Given the description of an element on the screen output the (x, y) to click on. 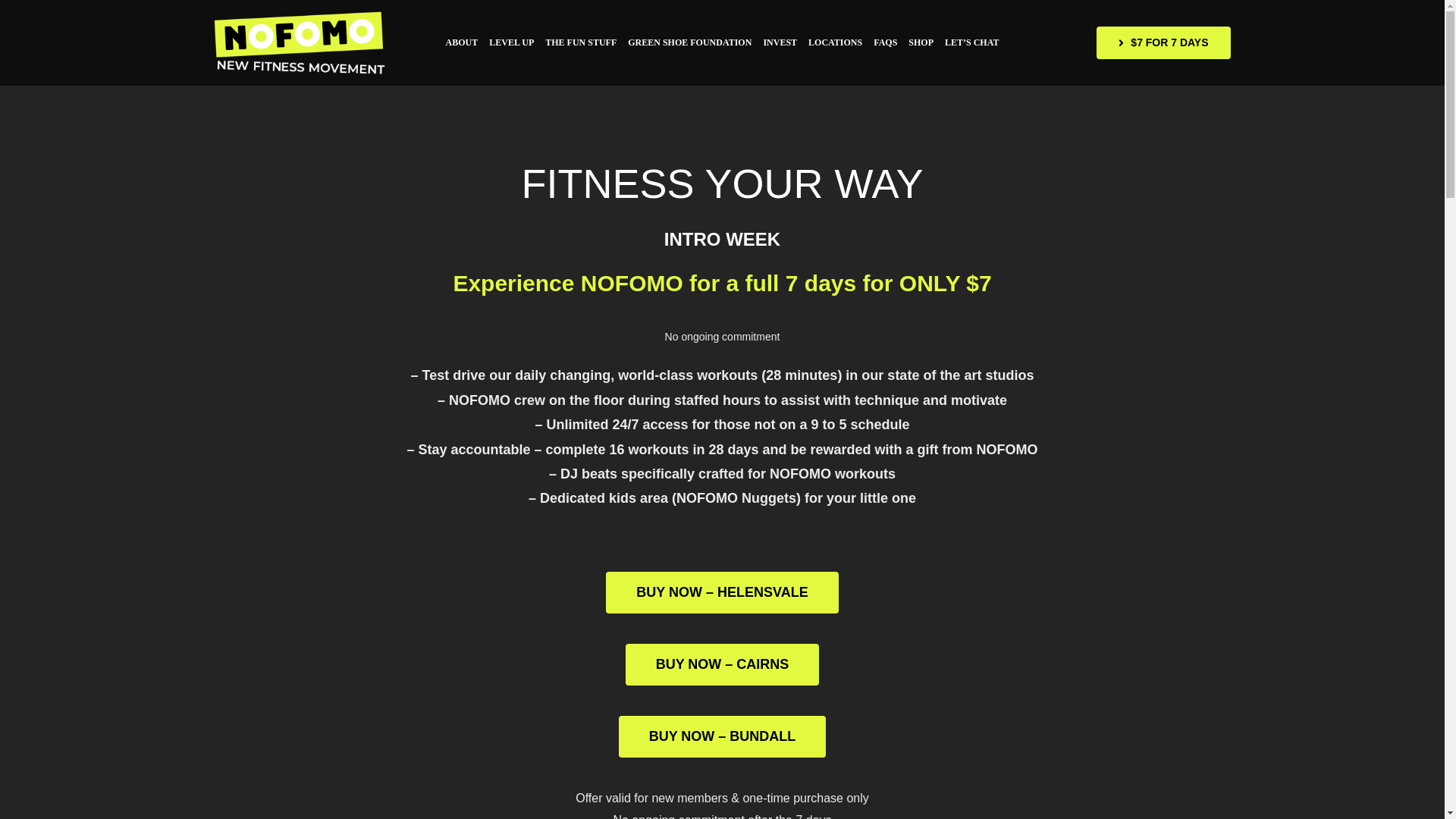
LEVEL UP Element type: text (511, 43)
LOCATIONS Element type: text (835, 43)
GREEN SHOE FOUNDATION Element type: text (689, 43)
FAQS Element type: text (884, 43)
$7 FOR 7 DAYS Element type: text (1163, 42)
SHOP Element type: text (920, 43)
THE FUN STUFF Element type: text (580, 43)
ABOUT Element type: text (462, 43)
INVEST Element type: text (779, 43)
